Given the description of an element on the screen output the (x, y) to click on. 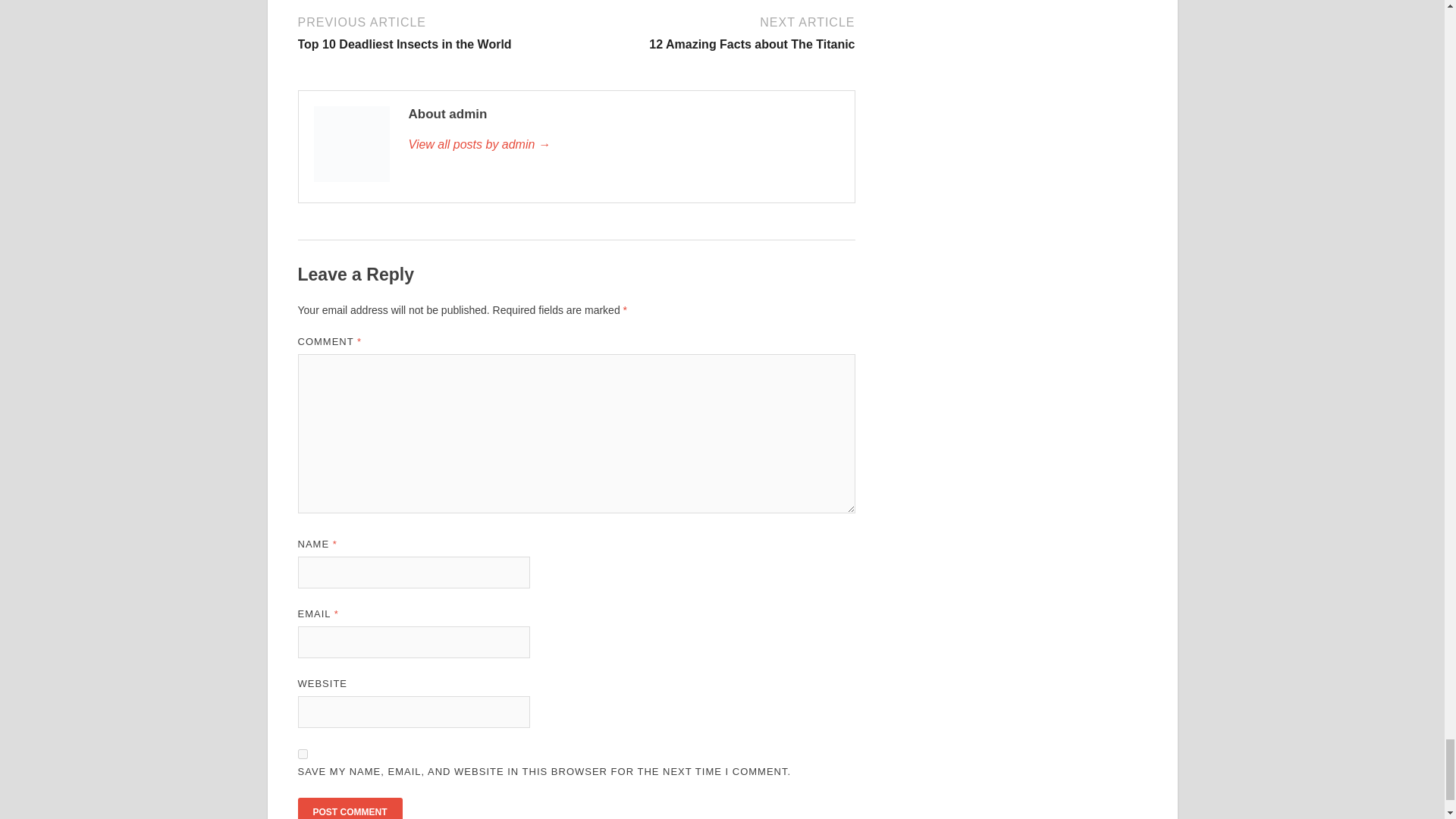
yes (434, 31)
Post Comment (302, 754)
admin (349, 808)
